Given the description of an element on the screen output the (x, y) to click on. 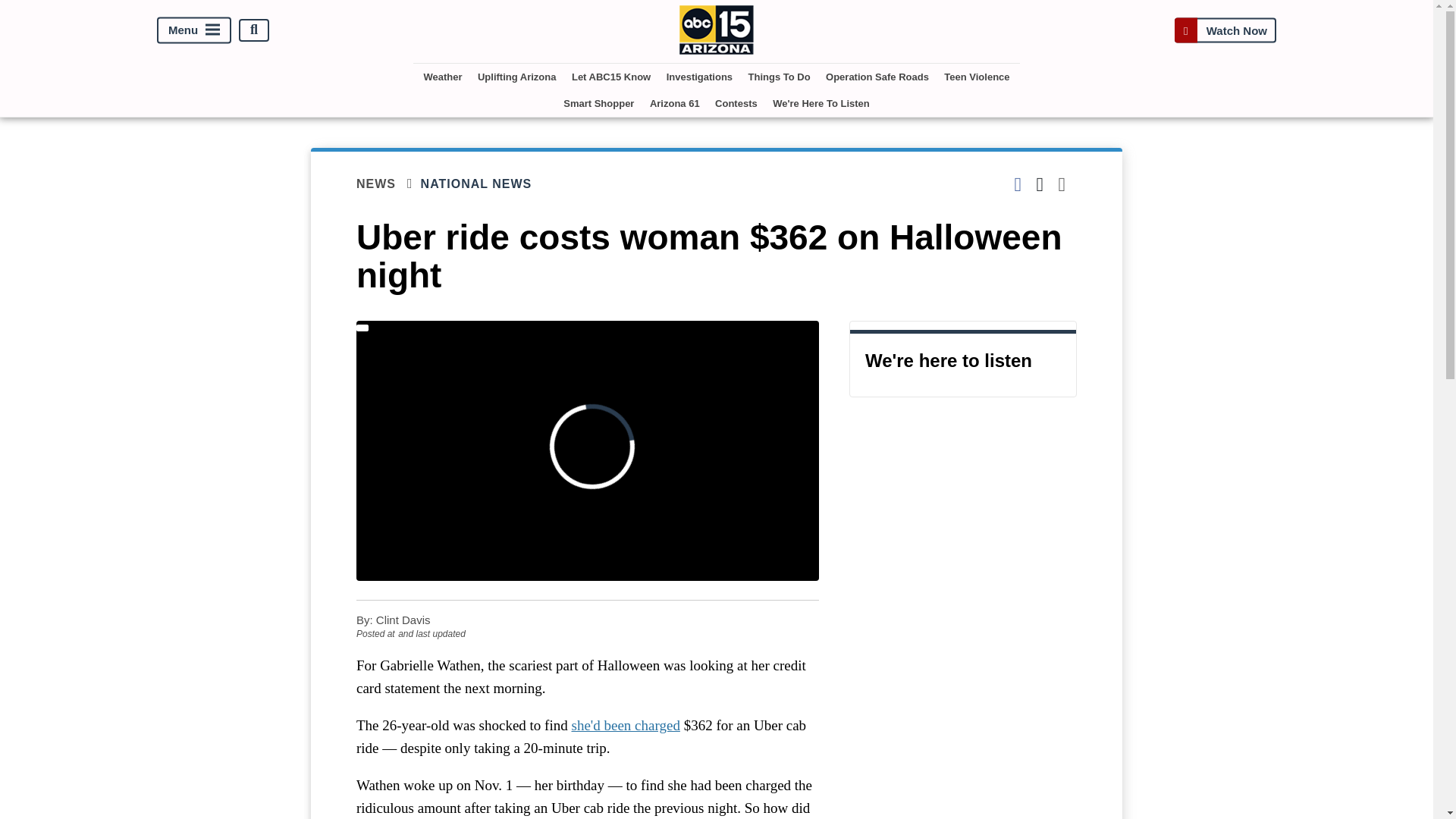
Watch Now (1224, 29)
Menu (194, 29)
